Given the description of an element on the screen output the (x, y) to click on. 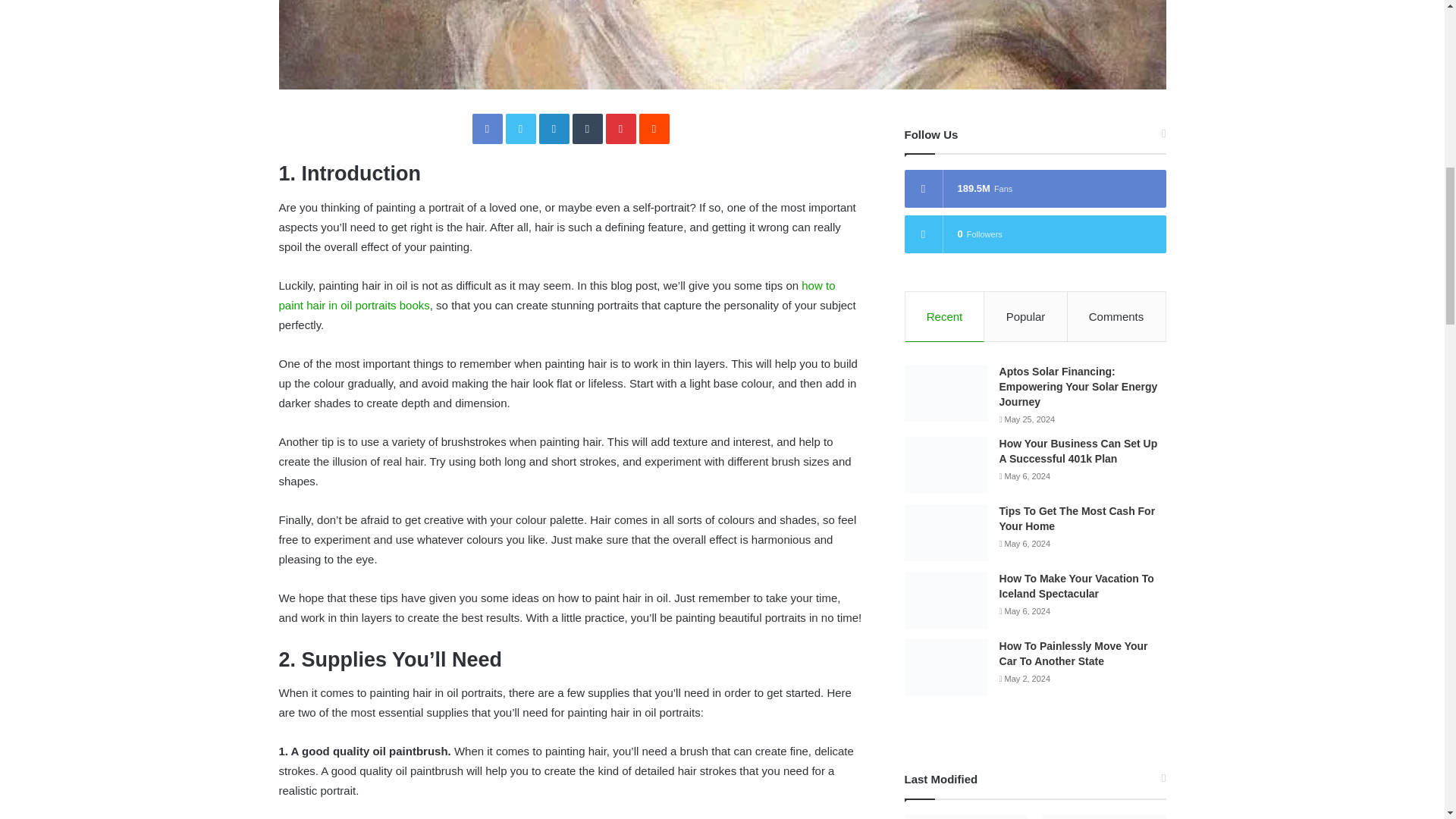
LinkedIn (553, 128)
Pinterest (619, 128)
Twitter (520, 128)
how to paint hair in oil portraits books (557, 295)
Facebook (486, 128)
Reddit (653, 128)
Tumblr (587, 128)
